Given the description of an element on the screen output the (x, y) to click on. 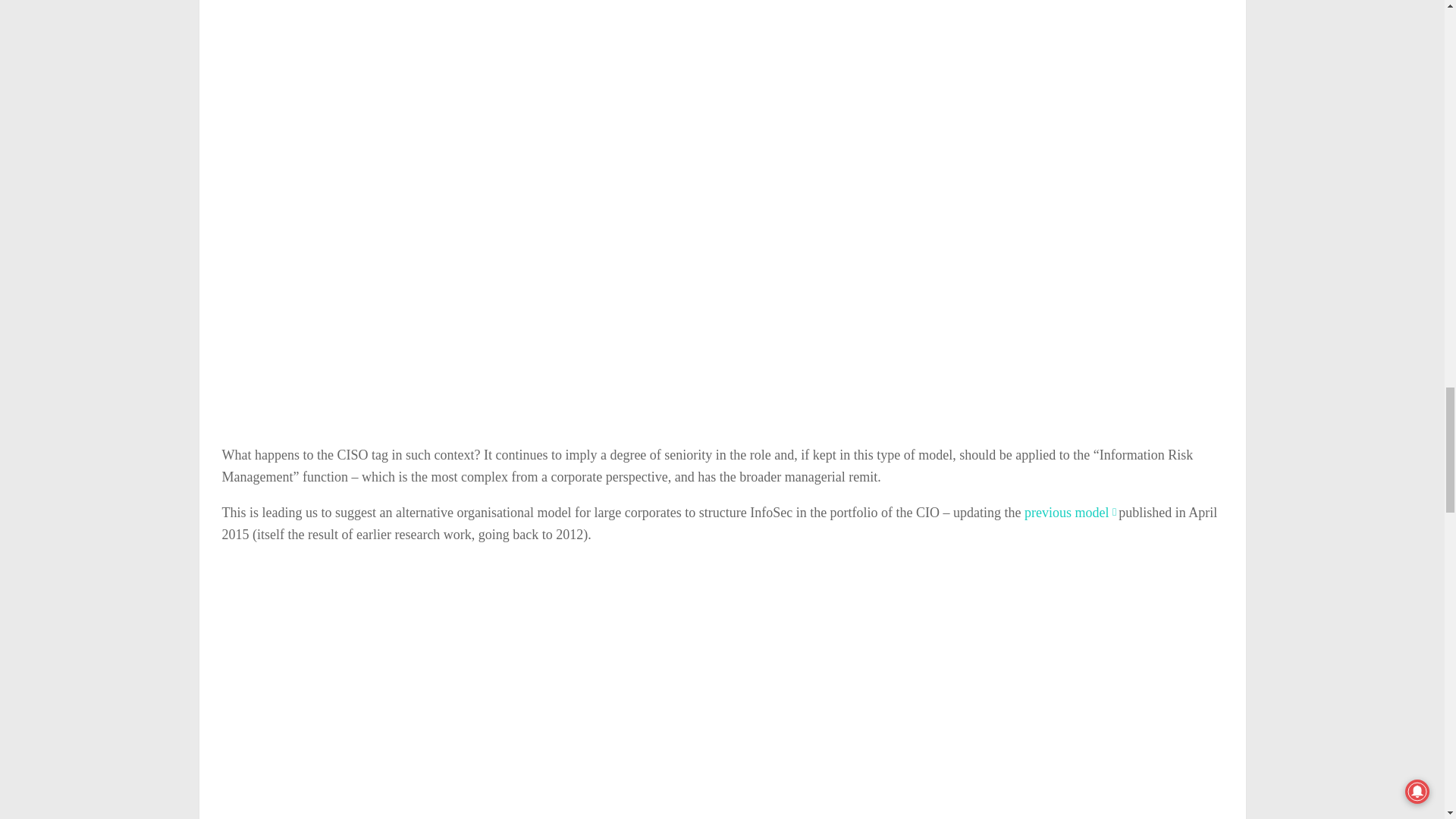
previous model (1070, 512)
